Given the description of an element on the screen output the (x, y) to click on. 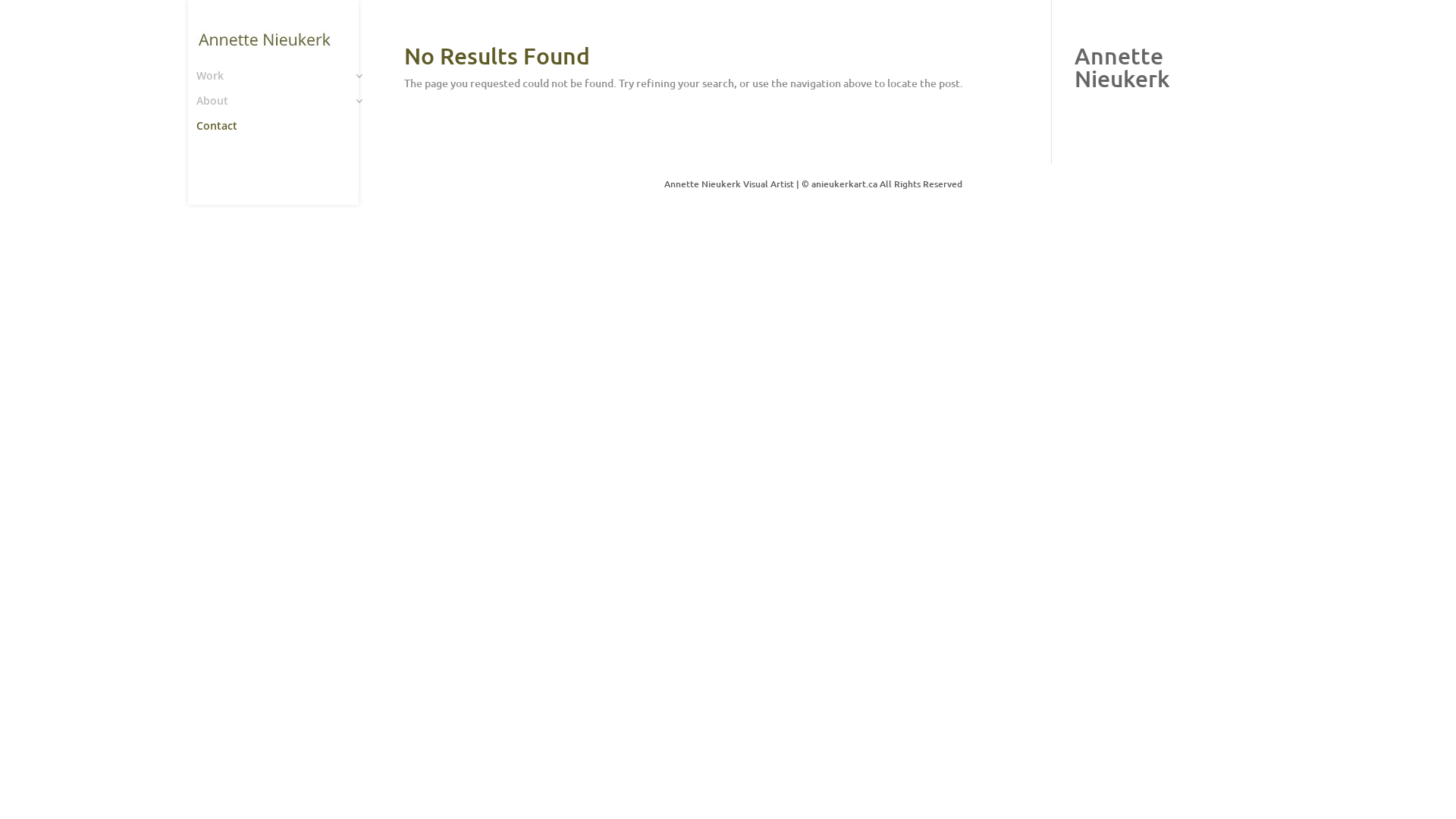
Work Element type: text (288, 82)
About Element type: text (288, 107)
Annette Nieukerk Element type: text (1122, 66)
Contact Element type: text (288, 132)
